Given the description of an element on the screen output the (x, y) to click on. 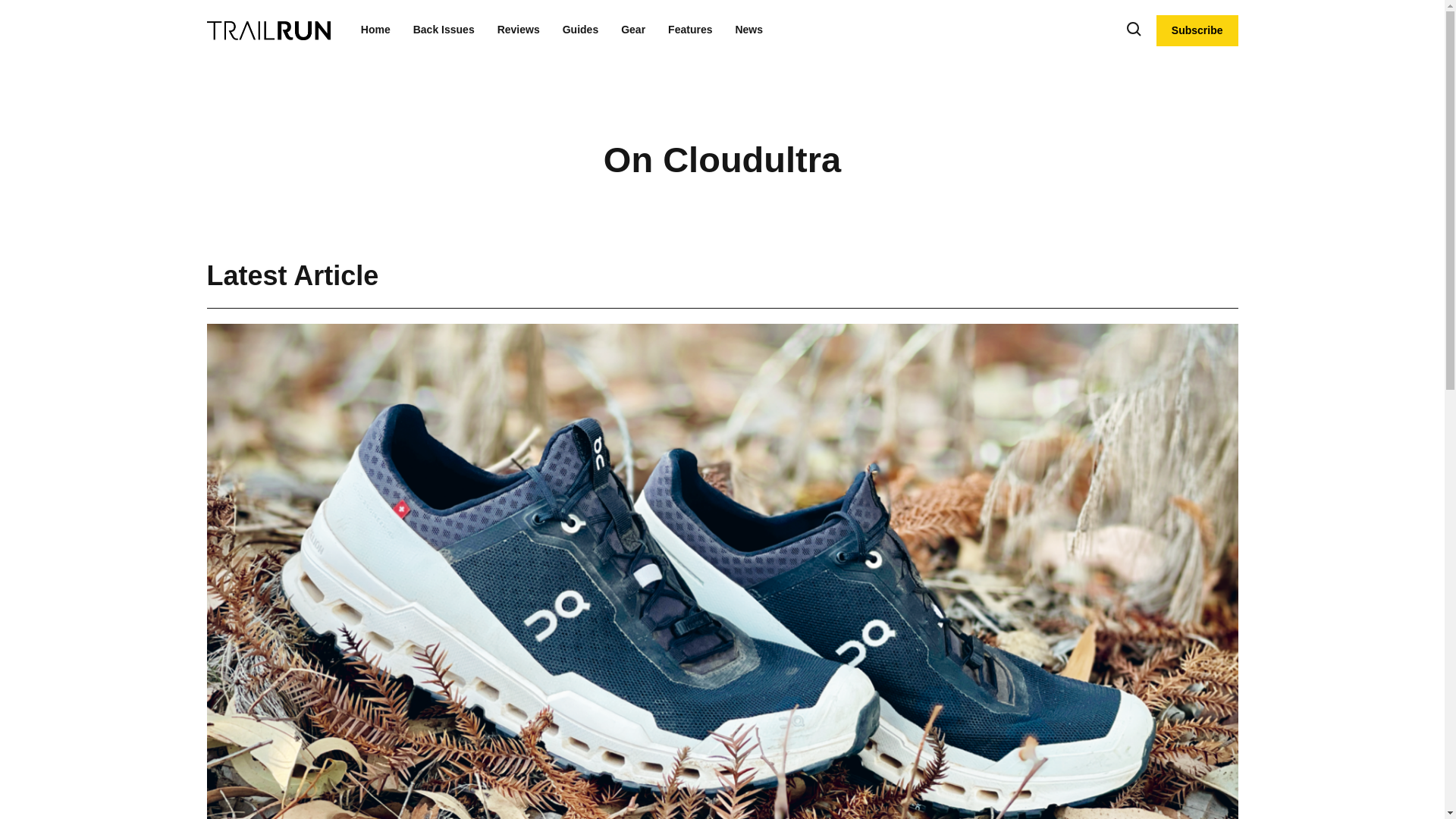
Features (689, 30)
Gear (633, 30)
Guides (580, 30)
Back Issues (443, 30)
Subscribe (1197, 30)
Home (375, 30)
Reviews (518, 30)
News (748, 30)
